Given the description of an element on the screen output the (x, y) to click on. 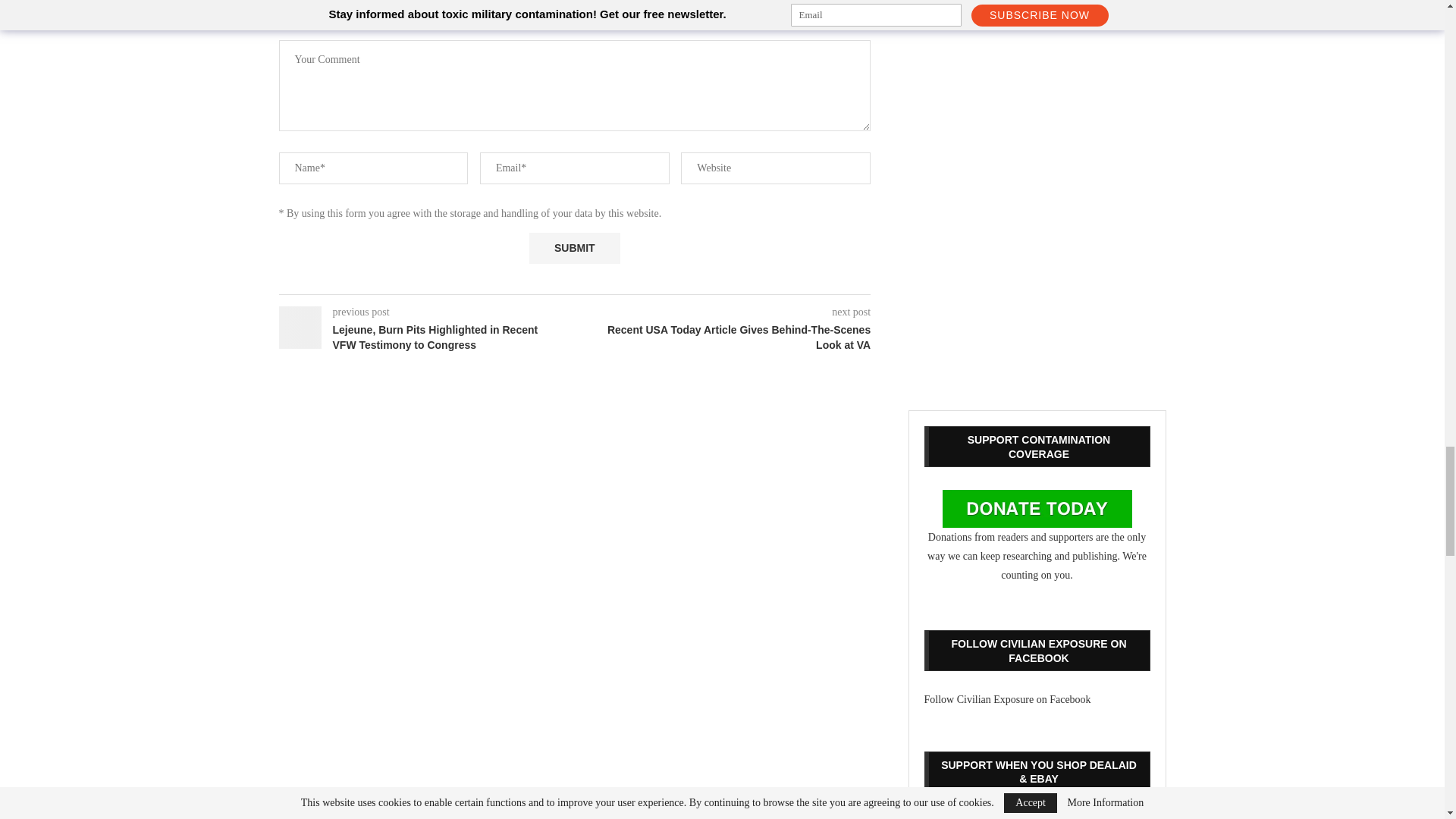
Submit (574, 247)
